Given the description of an element on the screen output the (x, y) to click on. 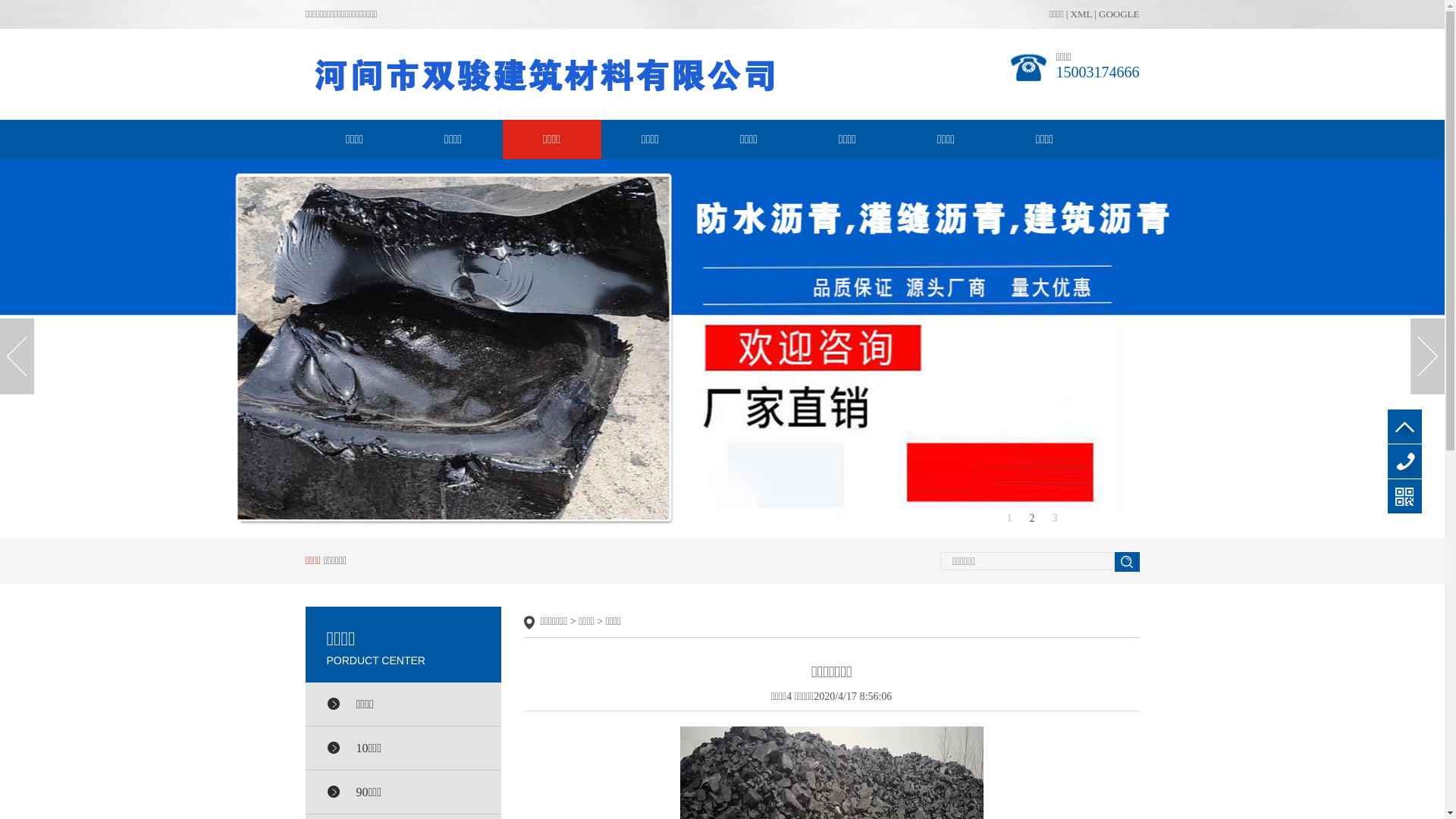
GOOGLE Element type: text (1118, 13)
XML Element type: text (1081, 13)
15003174666 Element type: text (1404, 461)
